Given the description of an element on the screen output the (x, y) to click on. 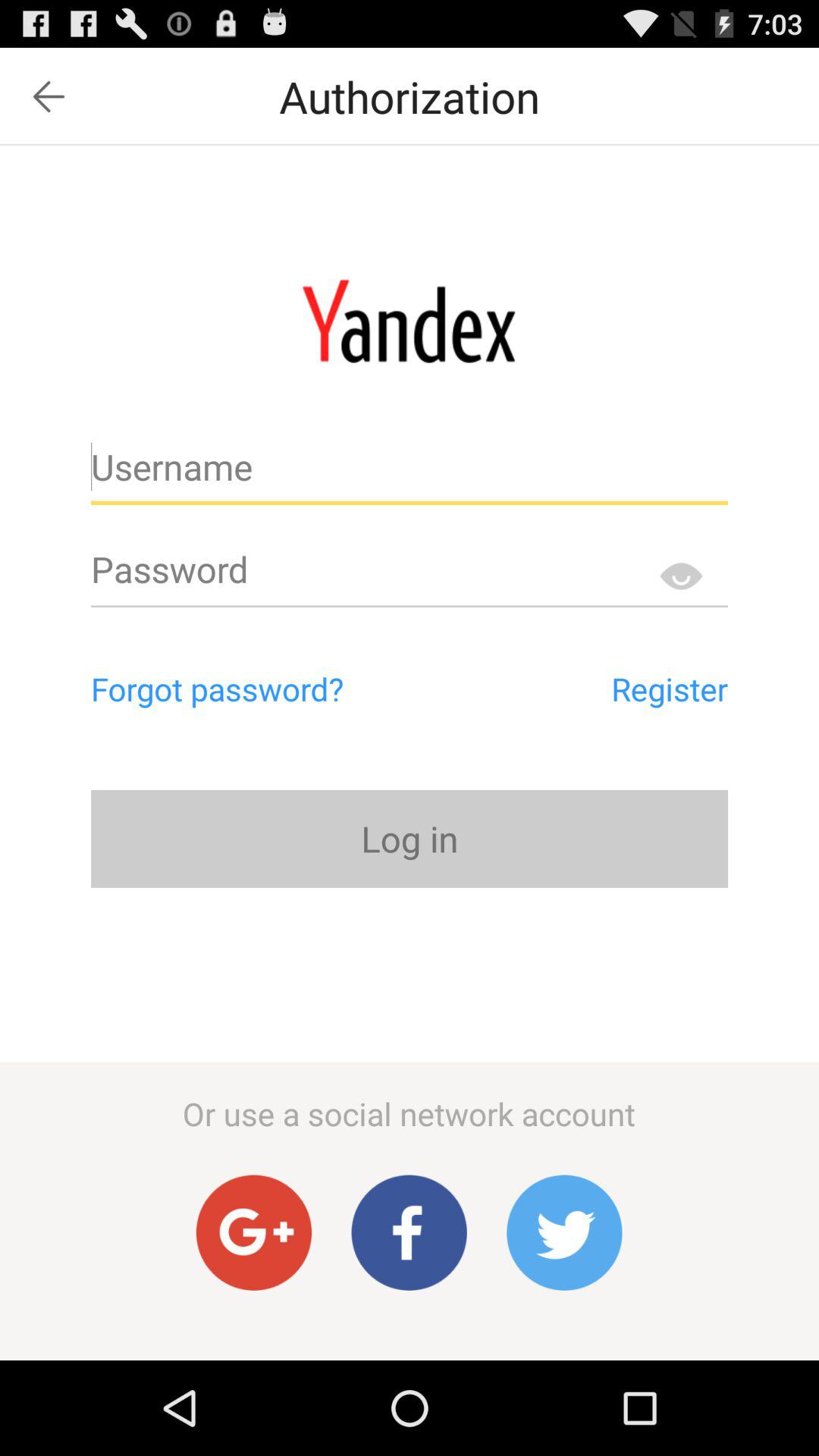
turn off app next to the register icon (282, 688)
